Given the description of an element on the screen output the (x, y) to click on. 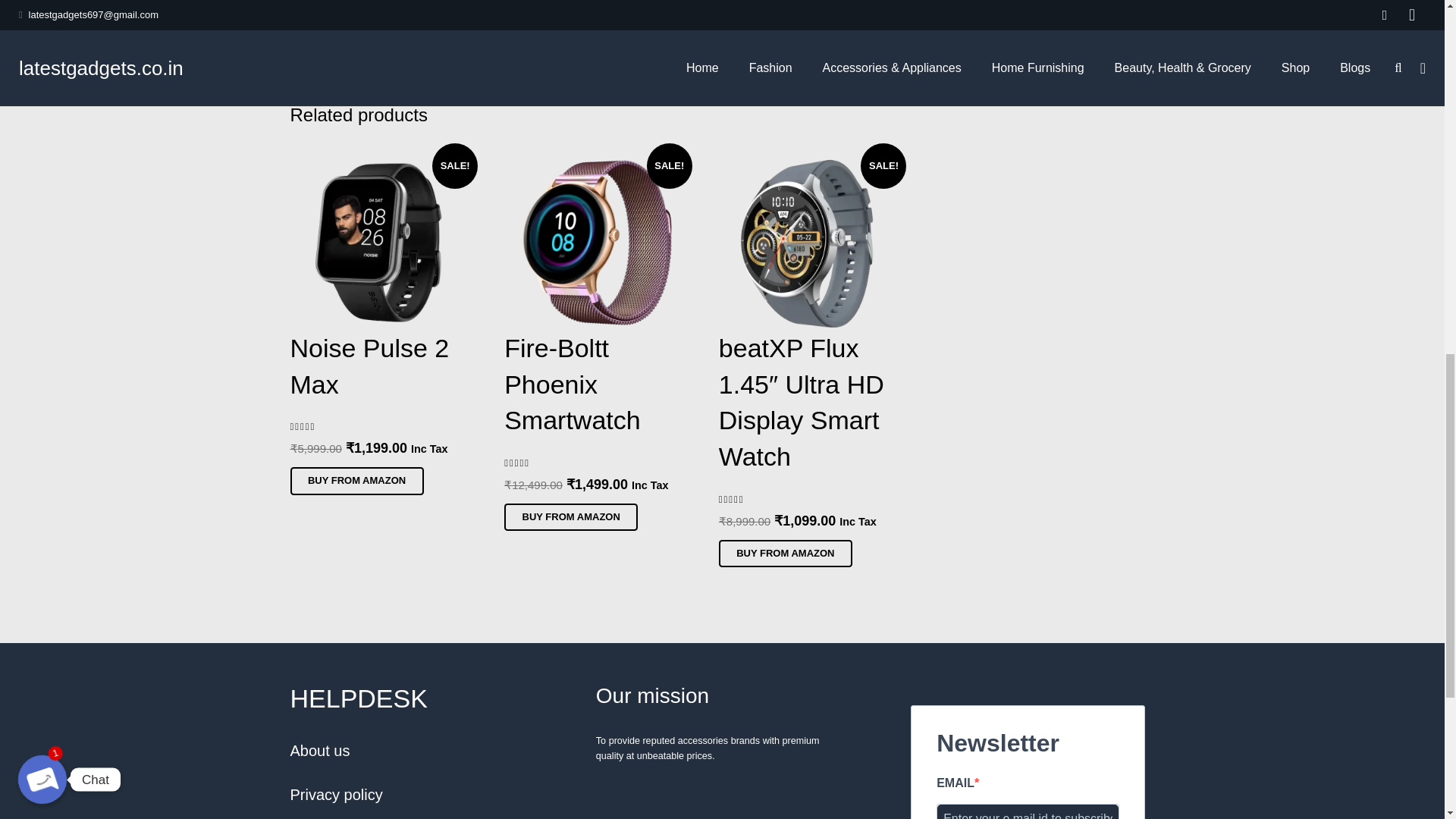
Back to top (1413, 22)
